Given the description of an element on the screen output the (x, y) to click on. 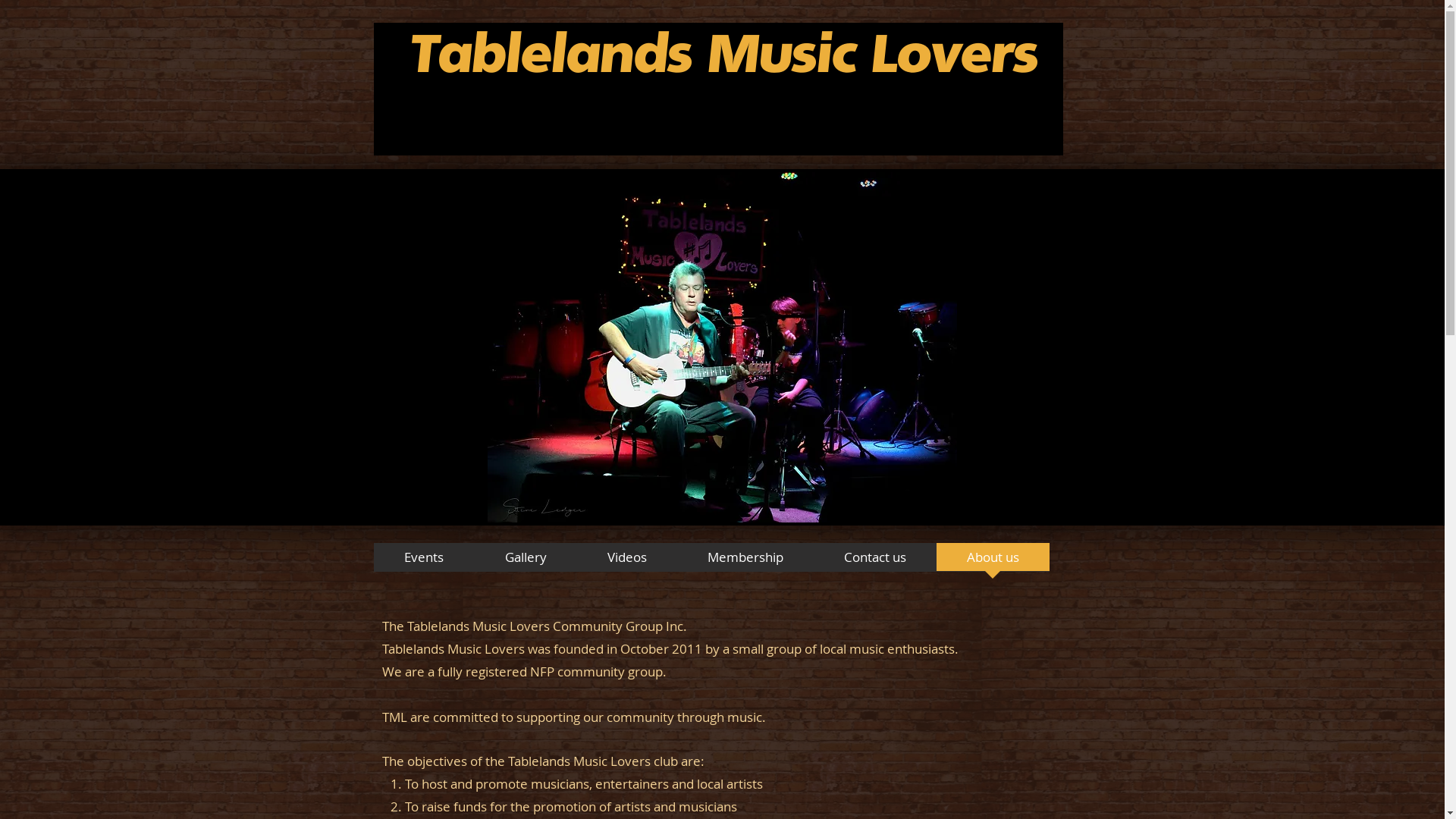
PayPal Button Element type: hover (713, 106)
Videos Element type: text (626, 561)
Gallery Element type: text (525, 561)
Contact us Element type: text (873, 561)
Membership Element type: text (744, 561)
About us Element type: text (991, 561)
Events Element type: text (423, 561)
